Given the description of an element on the screen output the (x, y) to click on. 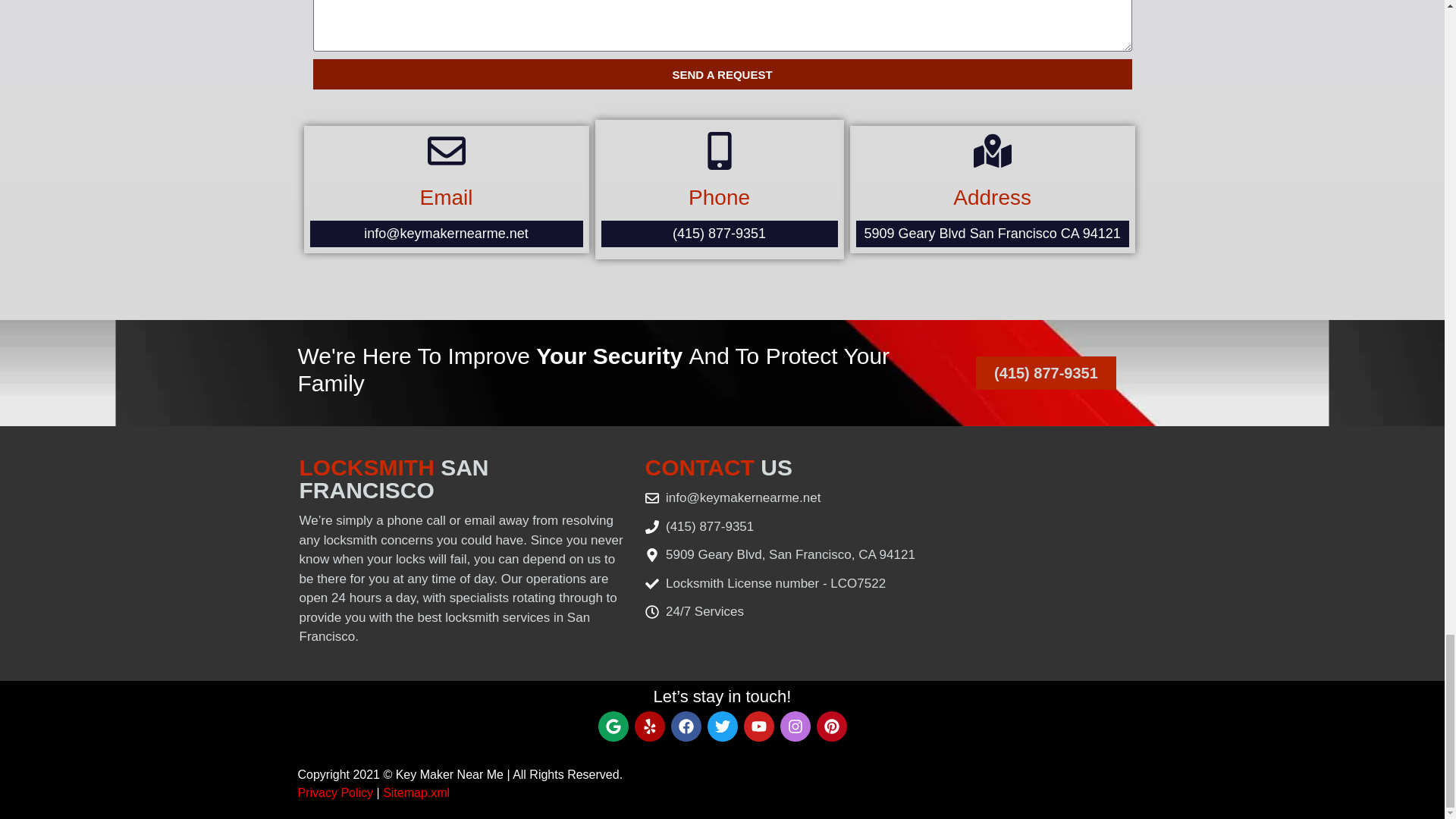
LOCKSMITH SAN FRANCISCO (392, 478)
5909 Geary Blvd San Francisco CA 94121 (992, 233)
SEND A REQUEST (722, 73)
